Given the description of an element on the screen output the (x, y) to click on. 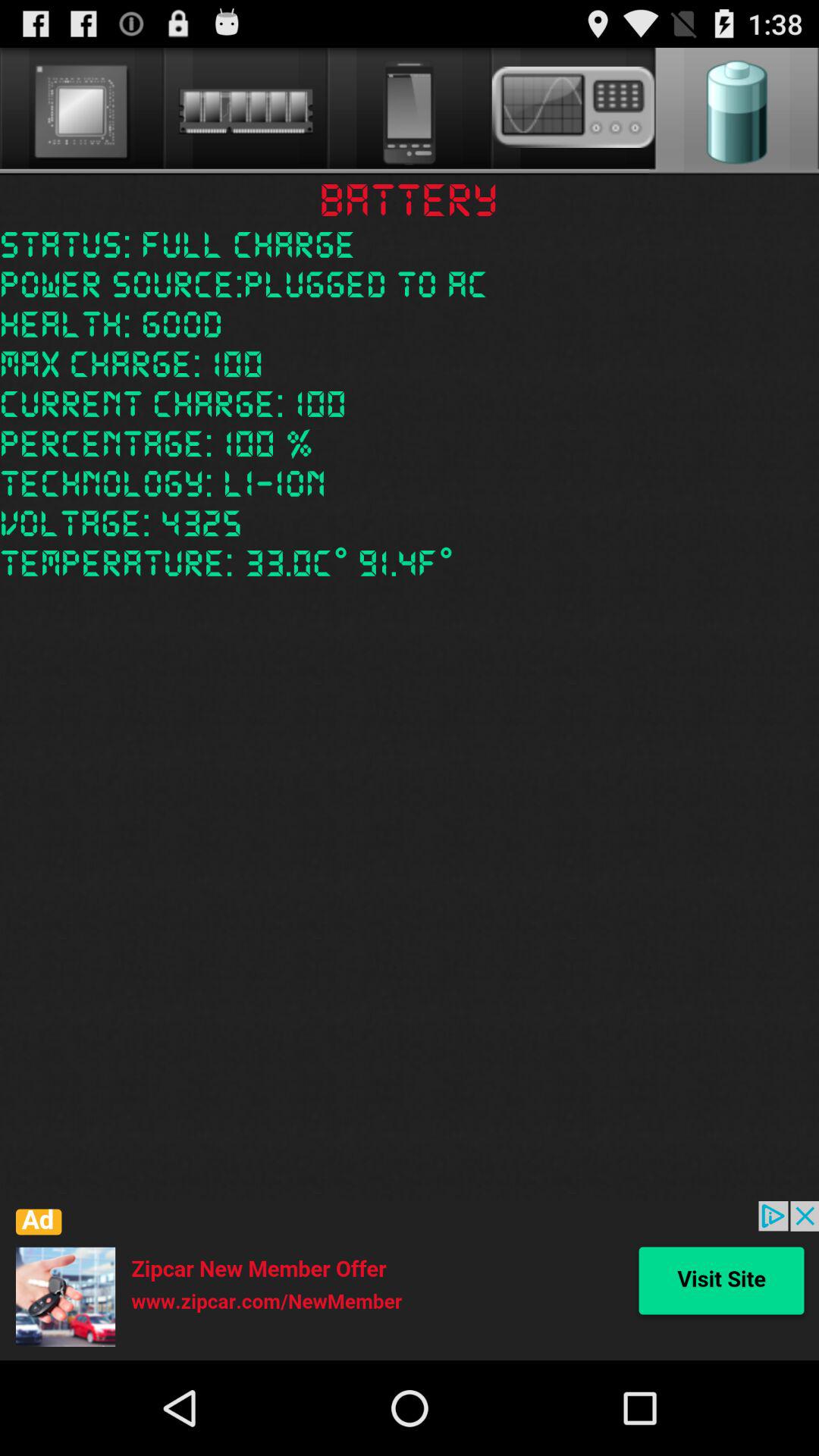
close option (409, 1280)
